Given the description of an element on the screen output the (x, y) to click on. 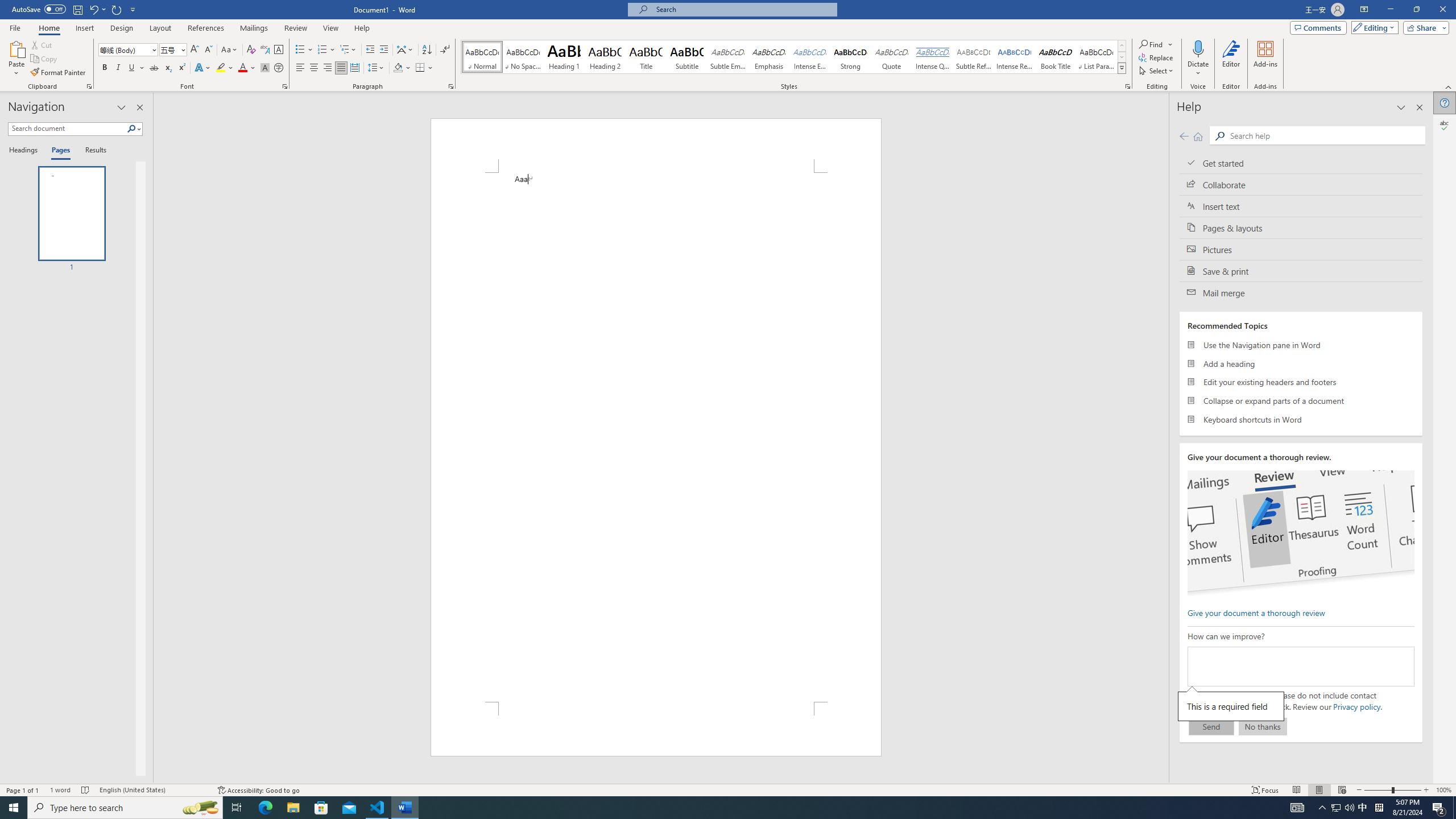
Strong (849, 56)
